Given the description of an element on the screen output the (x, y) to click on. 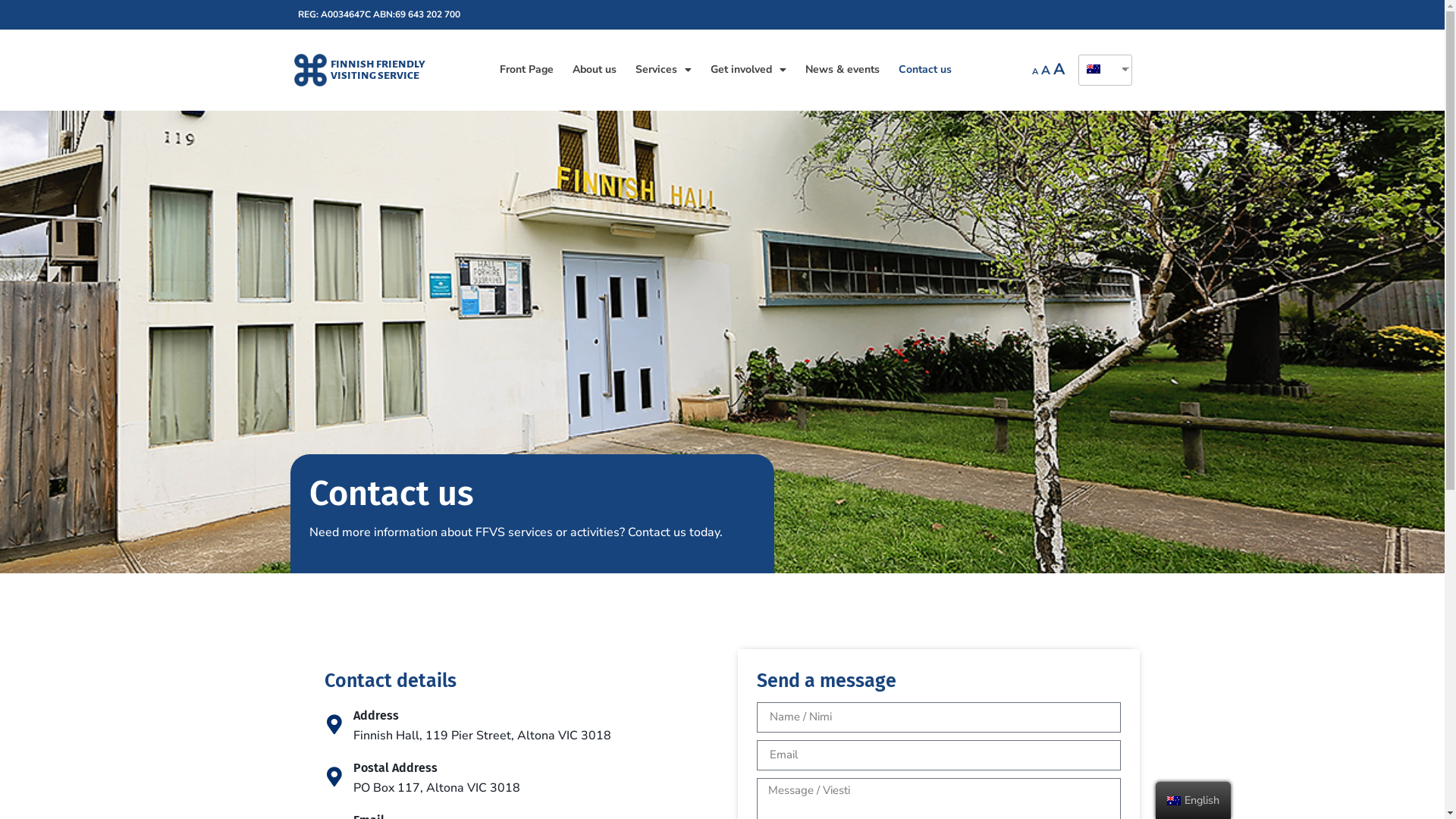
Contact us Element type: text (925, 69)
Services Element type: text (663, 69)
About us Element type: text (594, 69)
English Element type: hover (1093, 68)
A Element type: text (1058, 68)
Get involved Element type: text (748, 69)
A Element type: text (1045, 70)
News & events Element type: text (842, 69)
A Element type: text (1035, 71)
English Element type: hover (1173, 800)
Front Page Element type: text (526, 69)
English Element type: hover (1099, 69)
FINNISH FRIENDLY VISITING SERVICE Element type: text (377, 69)
